Given the description of an element on the screen output the (x, y) to click on. 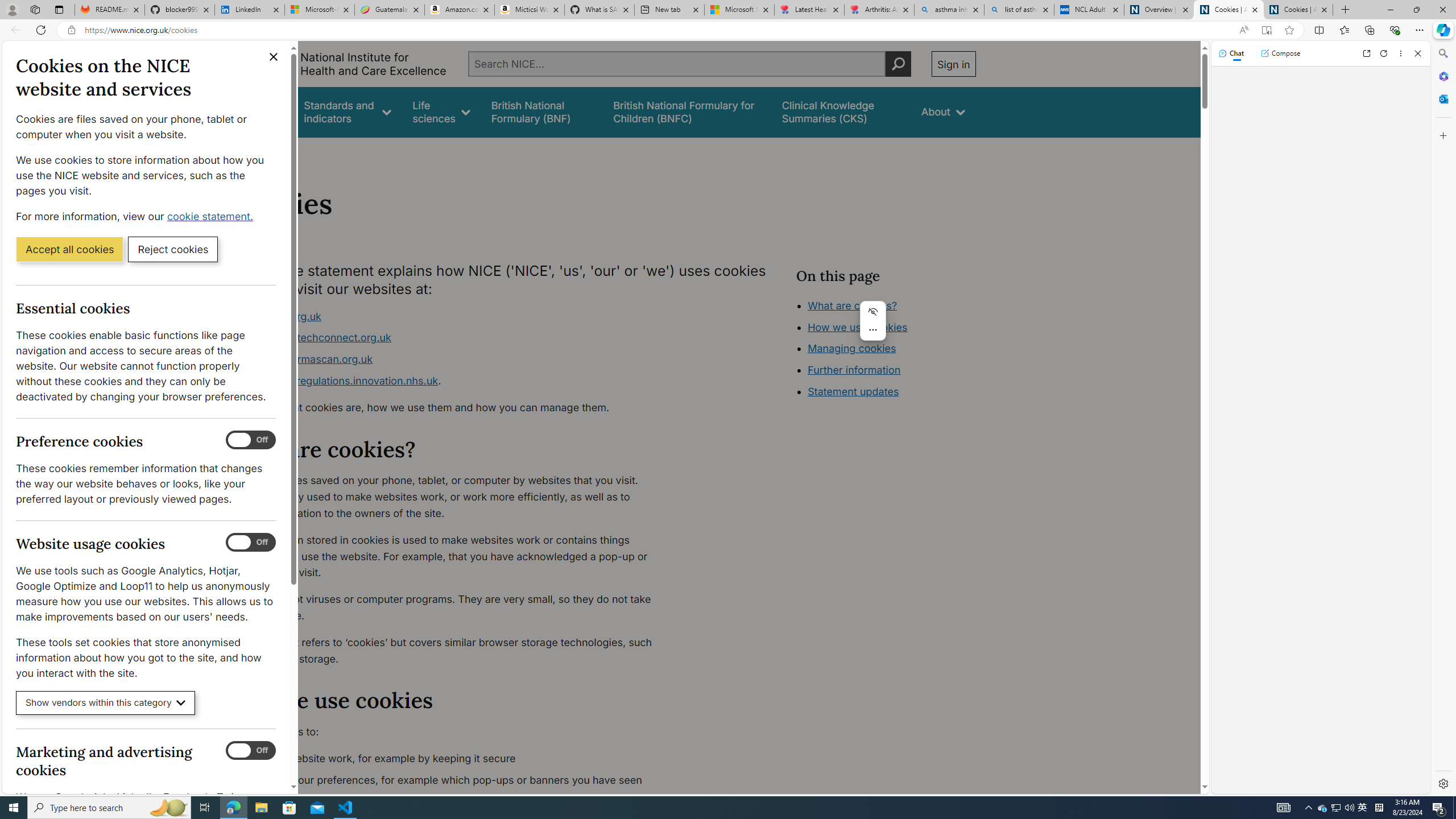
Class: in-page-nav__list (884, 349)
Guidance (260, 111)
About (942, 111)
make our website work, for example by keeping it secure (452, 759)
list of asthma inhalers uk - Search (1018, 9)
cookie statement. (Opens in a new window) (211, 215)
Home> (246, 152)
Statement updates (853, 391)
LinkedIn (249, 9)
Arthritis: Ask Health Professionals (879, 9)
